Given the description of an element on the screen output the (x, y) to click on. 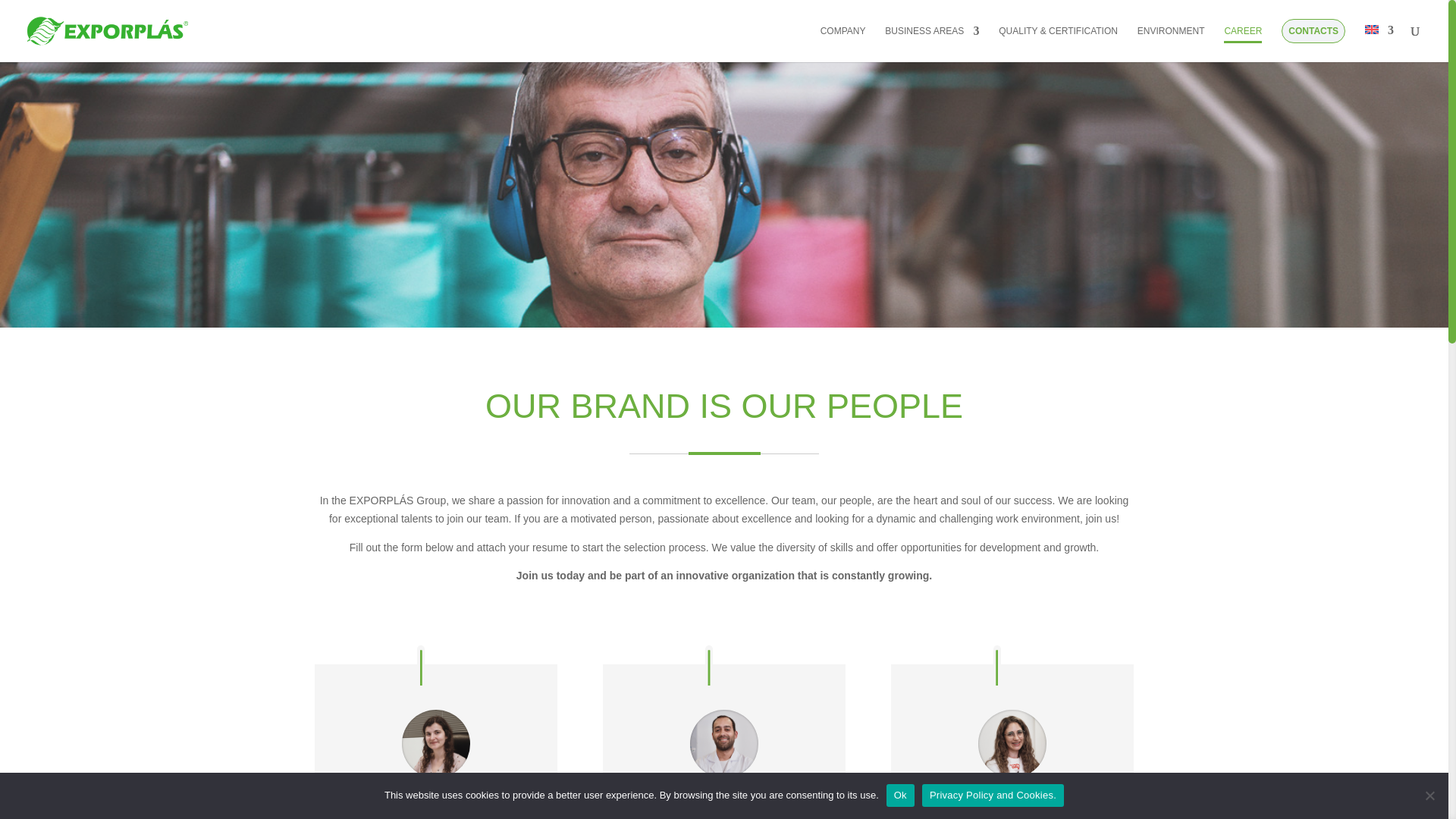
CONTACTS (1313, 40)
ENVIRONMENT (1171, 43)
COMPANY (843, 43)
CAREER (1243, 43)
BUSINESS AREAS (931, 43)
No (1429, 795)
